Given the description of an element on the screen output the (x, y) to click on. 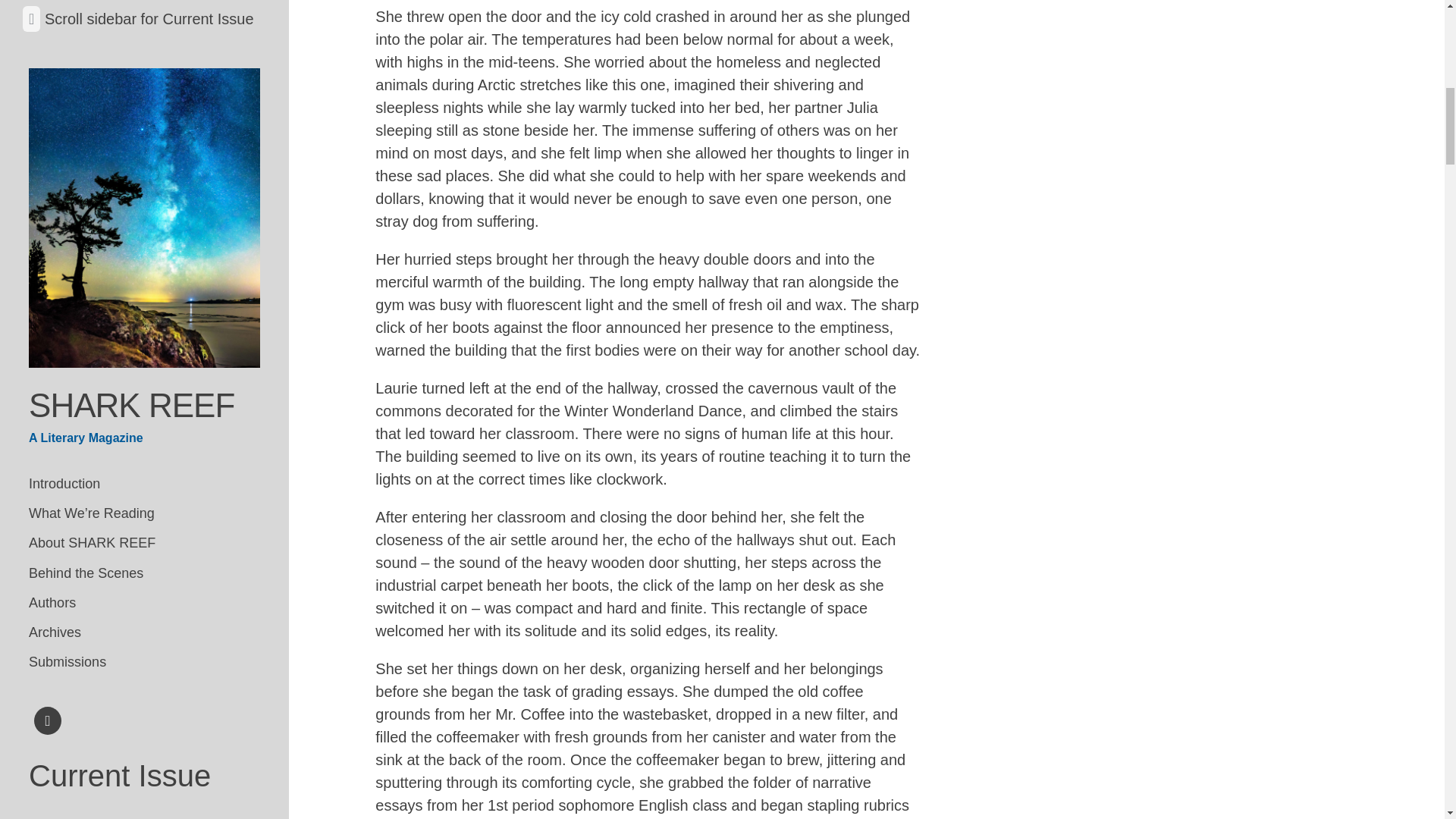
After the Diagnosis (80, 527)
Posts by Gayle Kaune (179, 554)
Where the Voices Took Her (102, 610)
Posts by Heather Durham (122, 275)
Shari Lane (148, 114)
Linda Conroy (153, 472)
Posts by Gayle Kaune (186, 527)
Gayle Kaune (139, 582)
Posts by Aaisha Umt Ur Rashid (154, 756)
Posts by Linda Conroy (64, 445)
Posts by Shari Lane (148, 114)
Richard Widerkehr (181, 656)
Thaumaturgy (64, 114)
Lorna Reese (152, 141)
Without Dark, Would We See the Light? (136, 427)
